Given the description of an element on the screen output the (x, y) to click on. 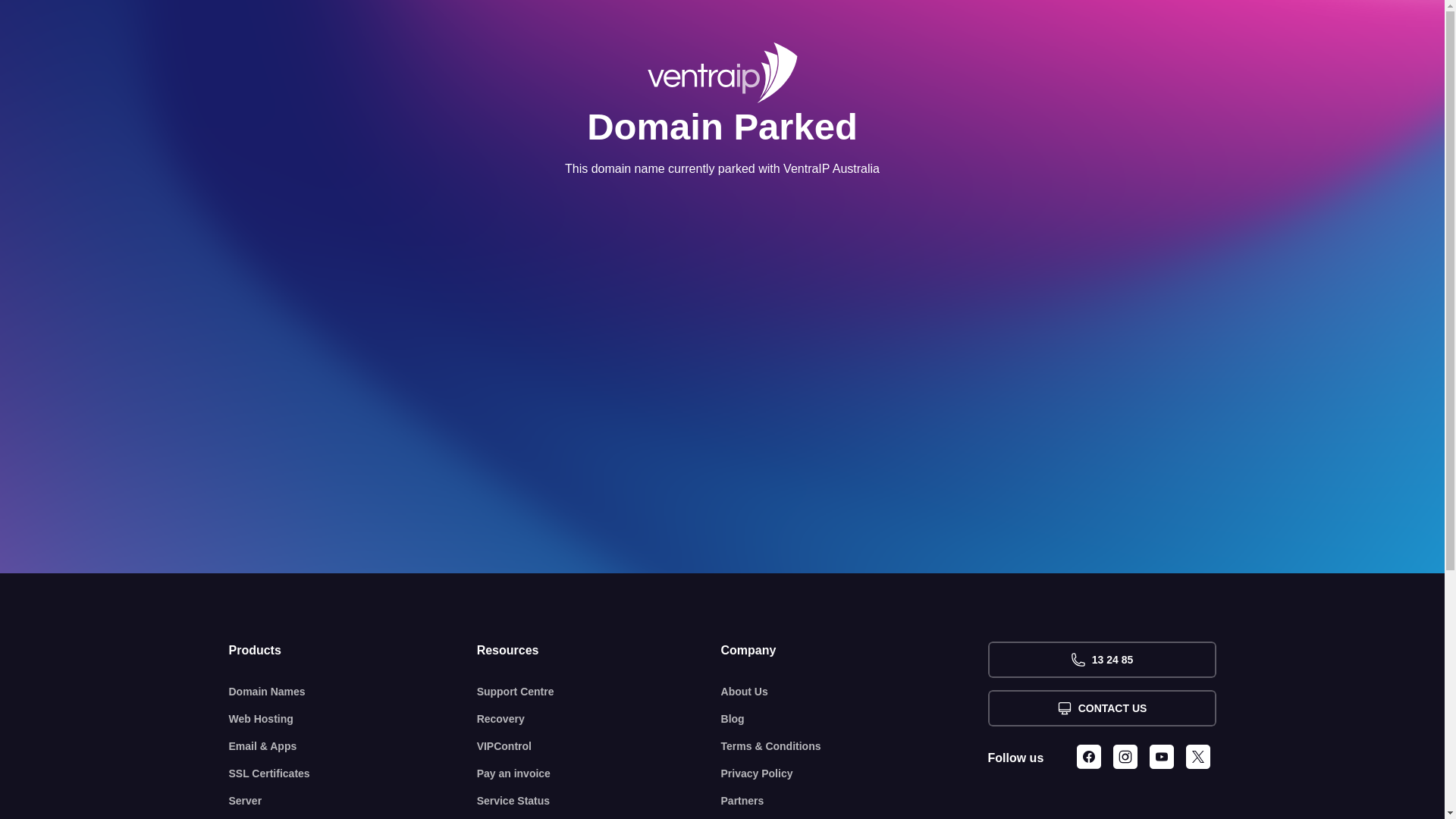
VIPControl Element type: text (598, 745)
Support Centre Element type: text (598, 691)
Pay an invoice Element type: text (598, 773)
Recovery Element type: text (598, 718)
CONTACT US Element type: text (1101, 708)
Privacy Policy Element type: text (854, 773)
About Us Element type: text (854, 691)
Terms & Conditions Element type: text (854, 745)
Service Status Element type: text (598, 800)
Email & Apps Element type: text (352, 745)
13 24 85 Element type: text (1101, 659)
Web Hosting Element type: text (352, 718)
Domain Names Element type: text (352, 691)
SSL Certificates Element type: text (352, 773)
Blog Element type: text (854, 718)
Server Element type: text (352, 800)
Partners Element type: text (854, 800)
